Given the description of an element on the screen output the (x, y) to click on. 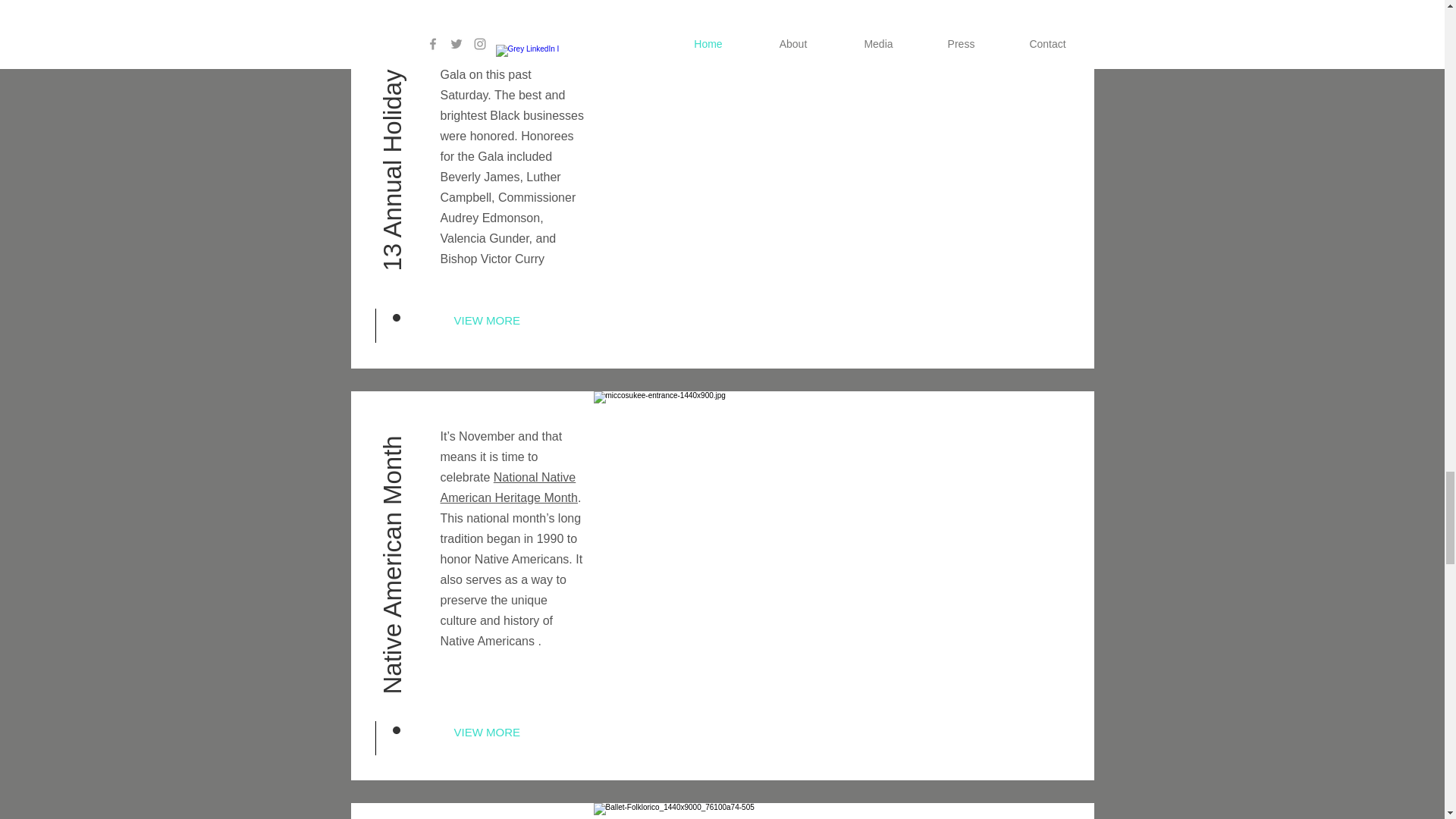
National Native American Heritage Month (507, 487)
VIEW MORE (502, 320)
VIEW MORE (502, 731)
